Given the description of an element on the screen output the (x, y) to click on. 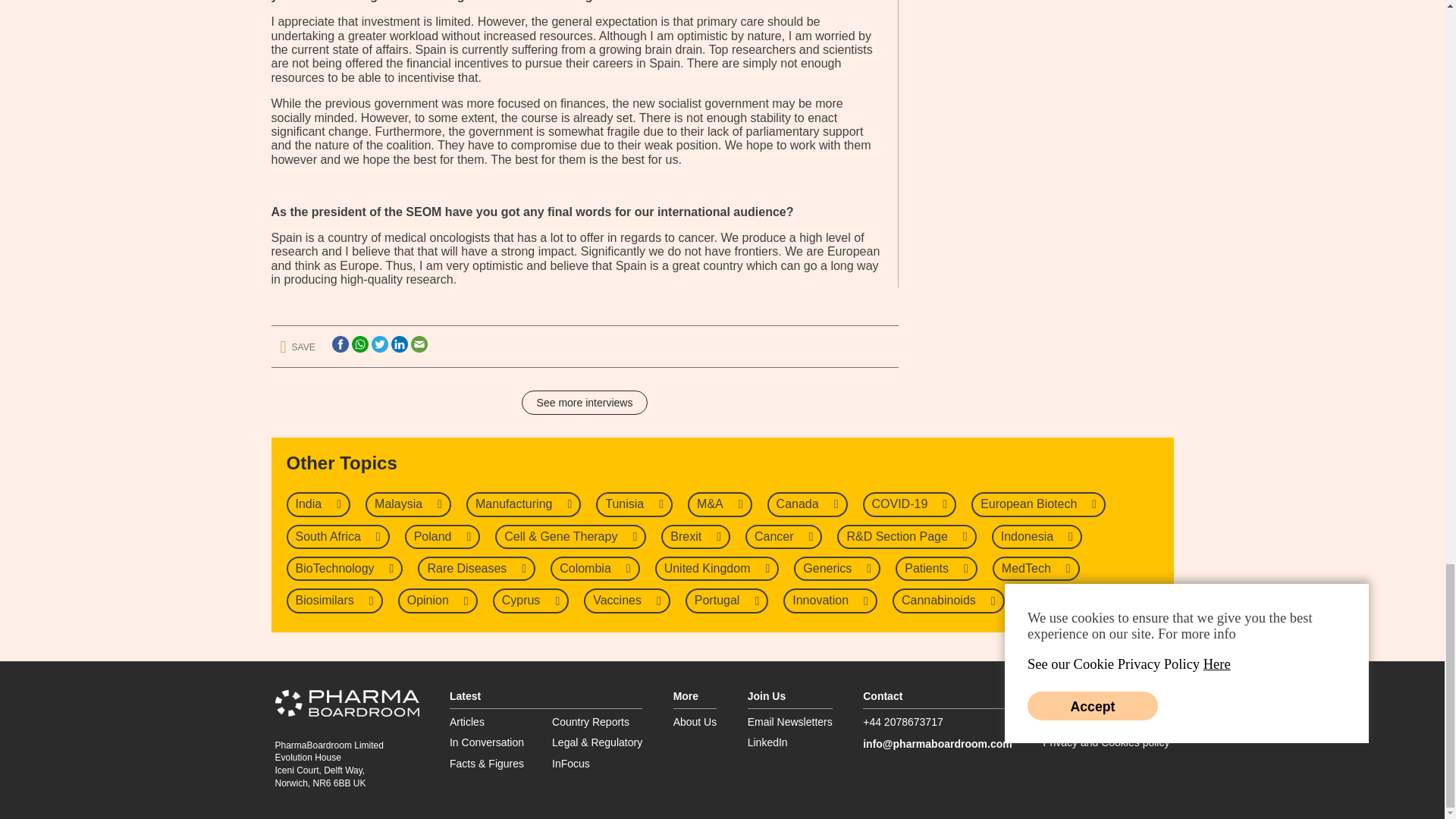
LinkedIn (399, 343)
Facebook (340, 343)
WhatsApp (360, 343)
Twitter (379, 343)
Email (419, 343)
